Given the description of an element on the screen output the (x, y) to click on. 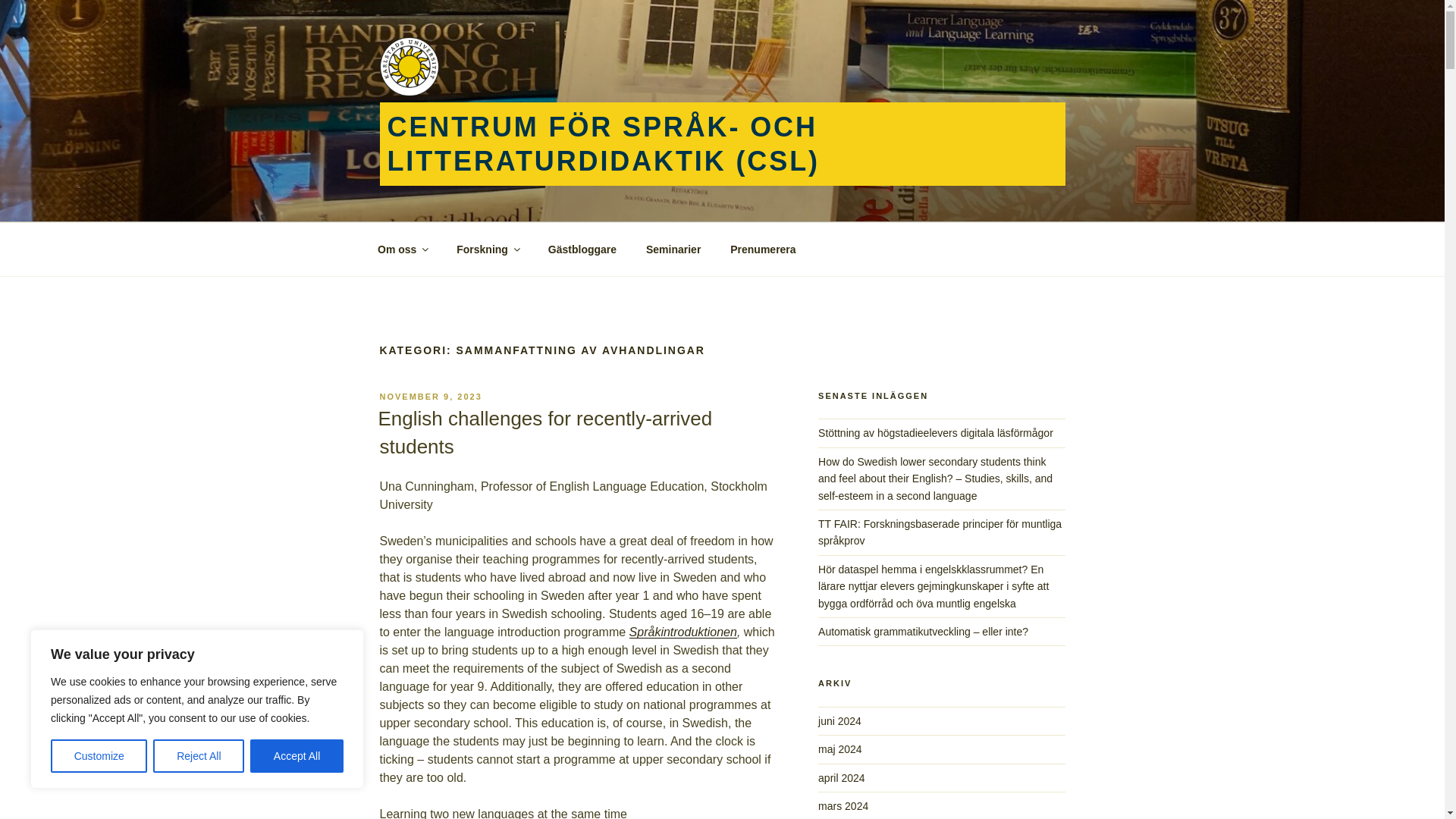
Forskning (488, 248)
Prenumerera (763, 248)
Accept All (296, 756)
Om oss (401, 248)
English challenges for recently-arrived students (544, 432)
Seminarier (672, 248)
NOVEMBER 9, 2023 (429, 396)
Customize (98, 756)
Reject All (198, 756)
